Given the description of an element on the screen output the (x, y) to click on. 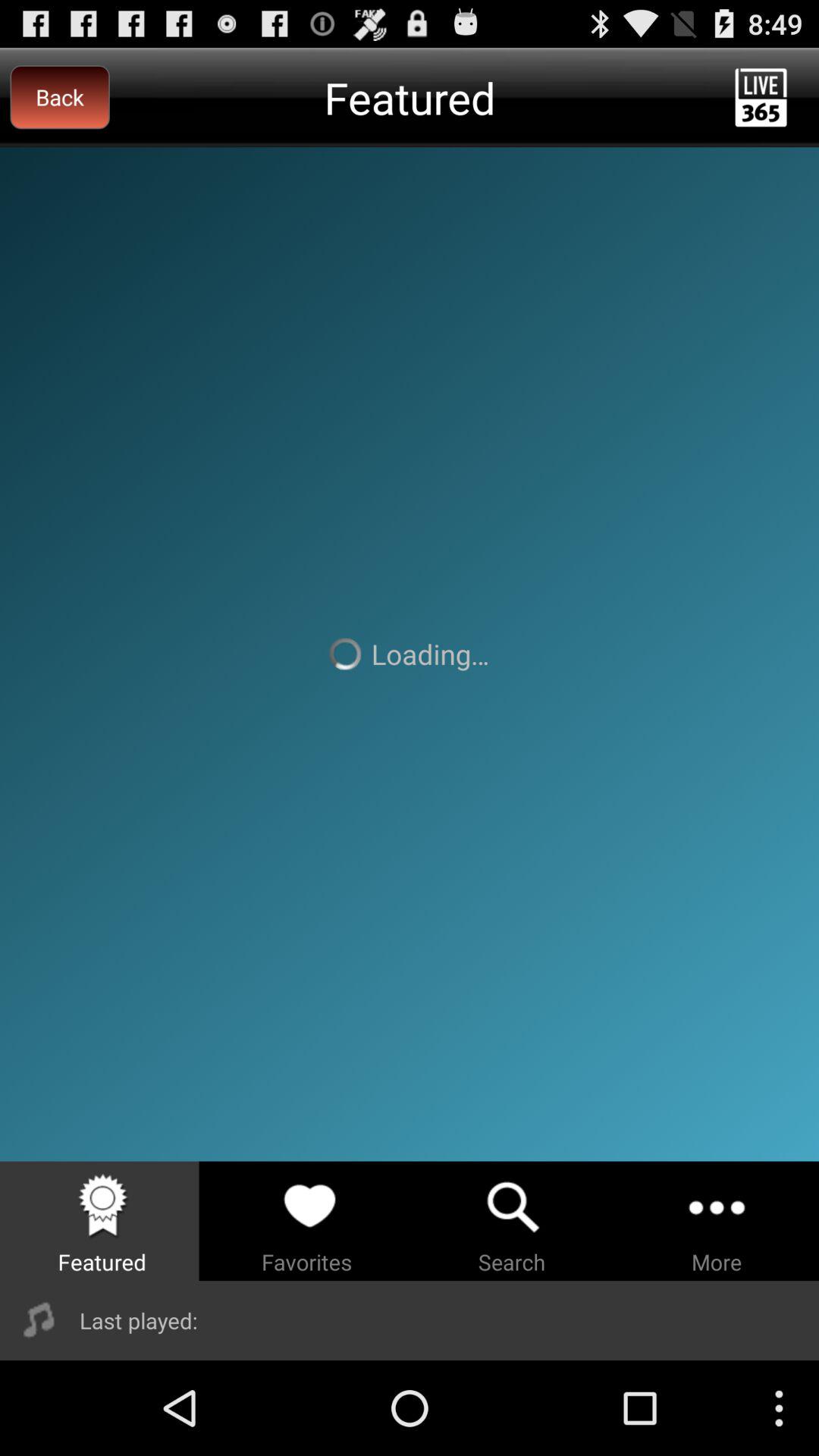
turn on the item next to featured item (59, 97)
